Given the description of an element on the screen output the (x, y) to click on. 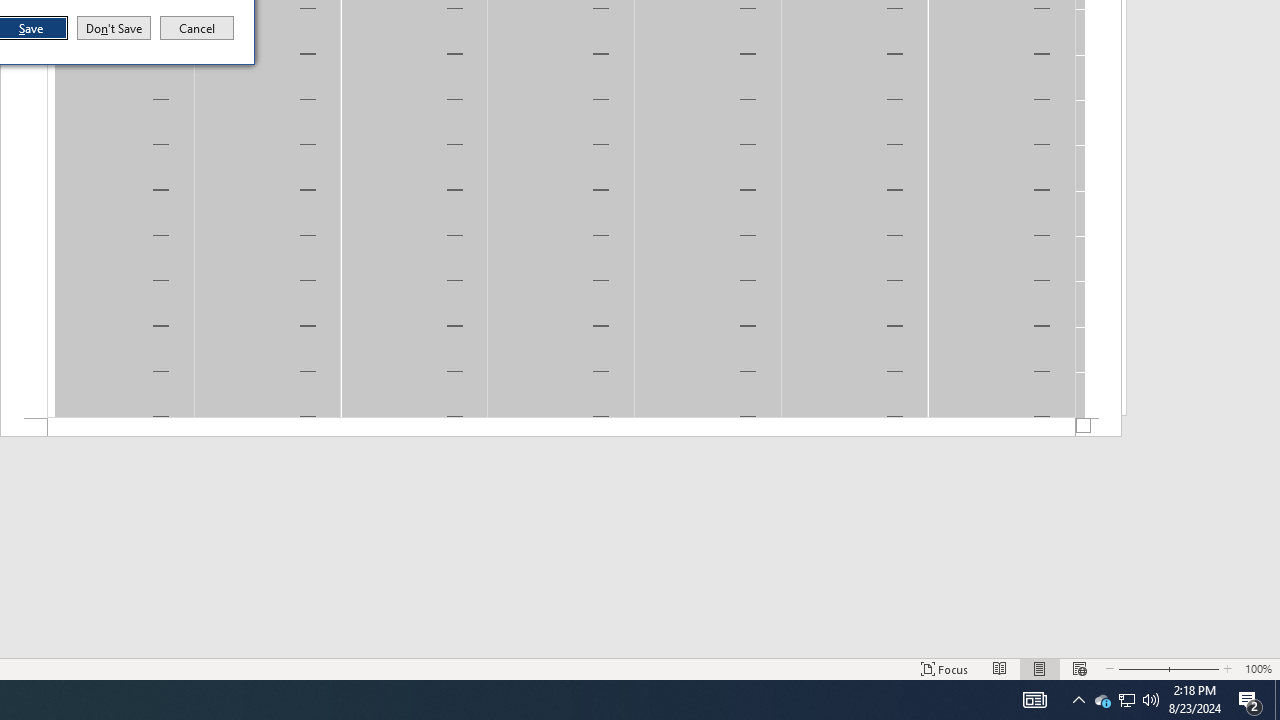
AutomationID: 4105 (1034, 699)
Cancel (197, 27)
Show desktop (1277, 699)
Action Center, 2 new notifications (1250, 699)
User Promoted Notification Area (1126, 699)
Footer -Section 1- (561, 427)
Notification Chevron (1078, 699)
